Given the description of an element on the screen output the (x, y) to click on. 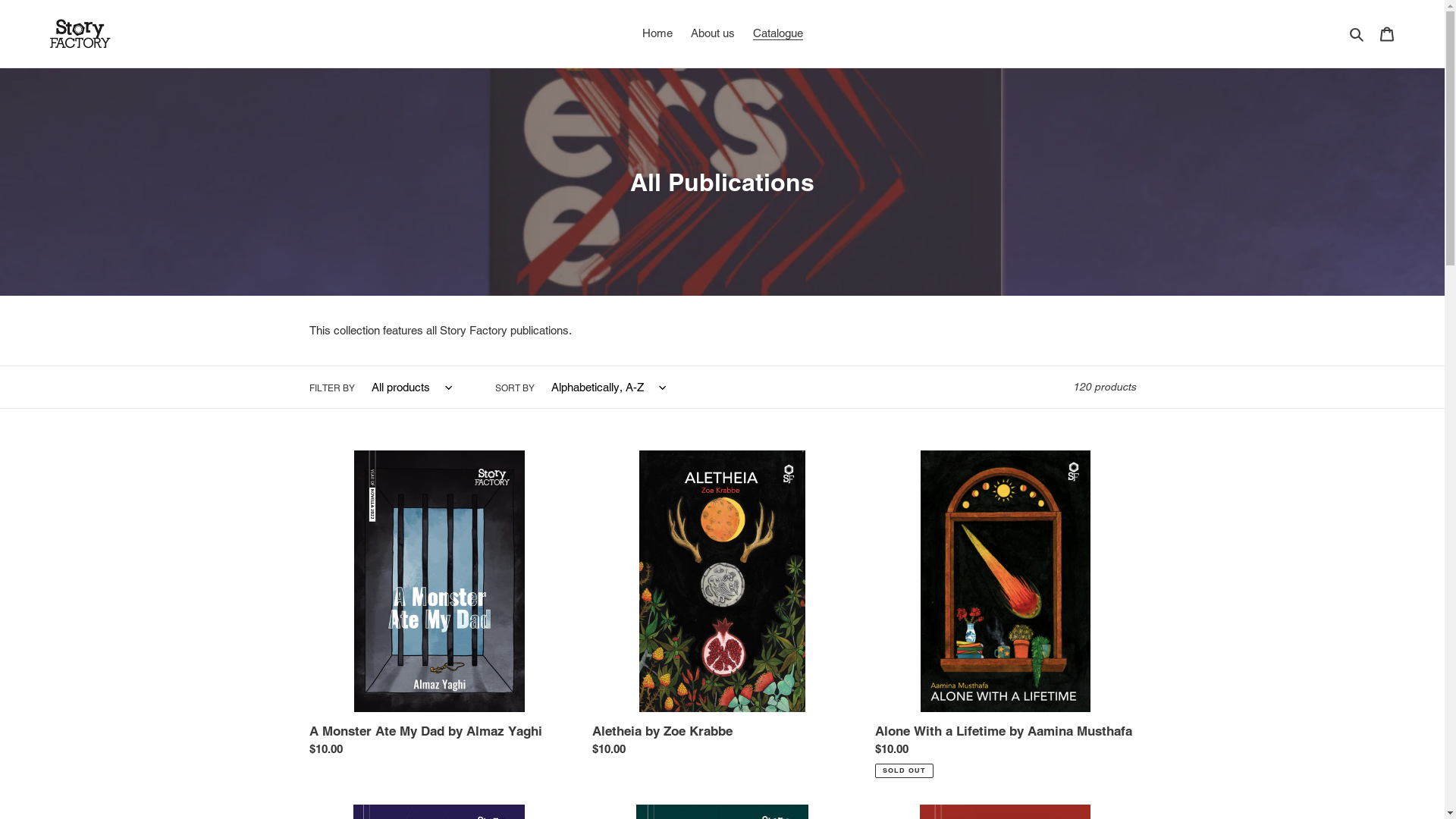
Home Element type: text (656, 33)
A Monster Ate My Dad by Almaz Yaghi Element type: text (439, 606)
Catalogue Element type: text (776, 33)
About us Element type: text (711, 33)
Aletheia by Zoe Krabbe Element type: text (722, 606)
Search Element type: text (1357, 33)
Cart Element type: text (1386, 33)
Alone With a Lifetime by Aamina Musthafa Element type: text (1005, 614)
